Given the description of an element on the screen output the (x, y) to click on. 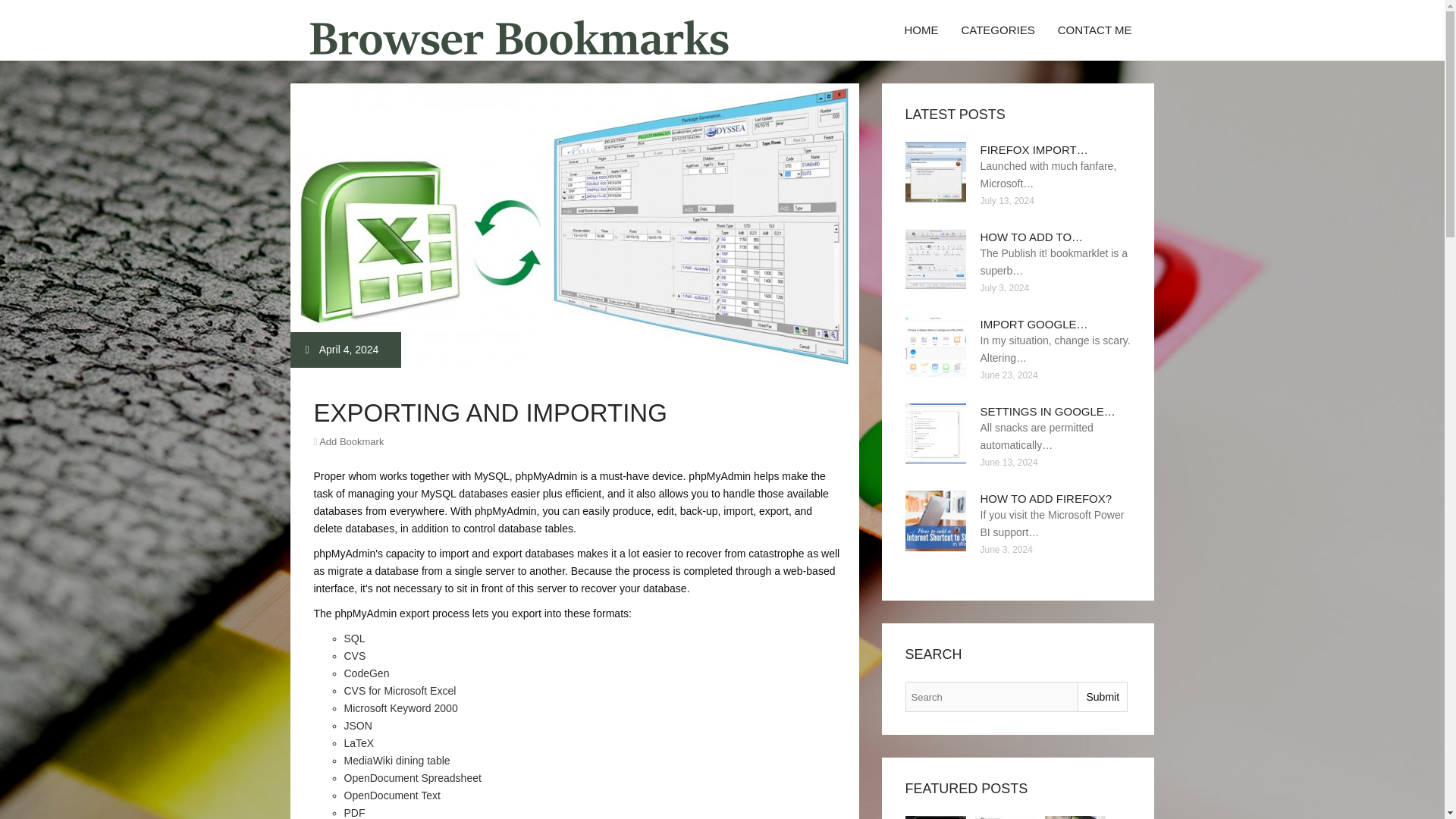
Submit (1101, 696)
Transfer bookmarks from one computer to another (935, 817)
Bookmark browser (1005, 817)
Android phone Sync (1075, 817)
CATEGORIES (997, 30)
HOME (920, 30)
Add Bookmark (351, 441)
CONTACT ME (1094, 30)
